Given the description of an element on the screen output the (x, y) to click on. 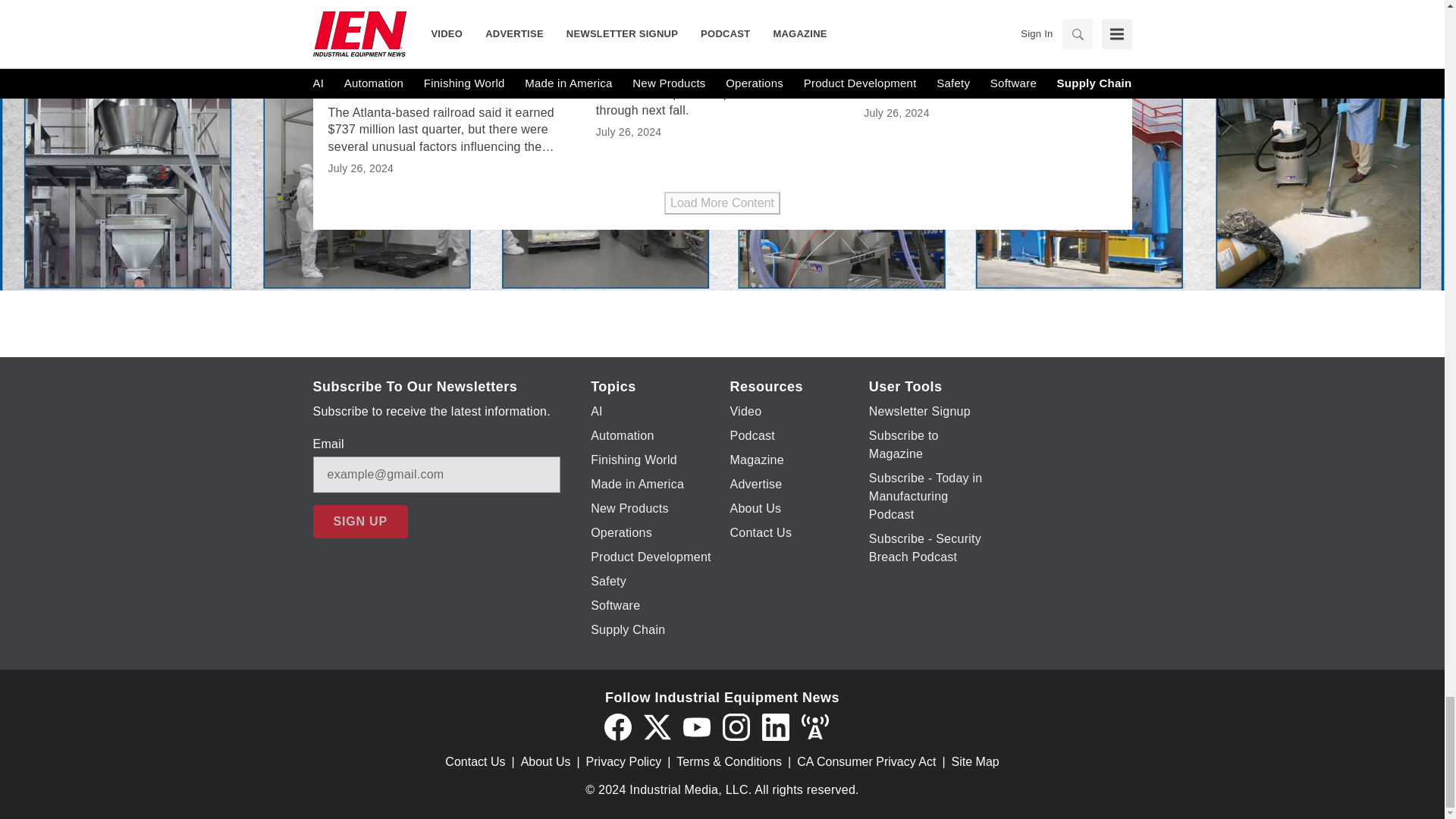
Instagram icon (735, 727)
LinkedIn icon (775, 727)
Twitter X icon (656, 727)
Facebook icon (617, 727)
YouTube icon (696, 727)
